Given the description of an element on the screen output the (x, y) to click on. 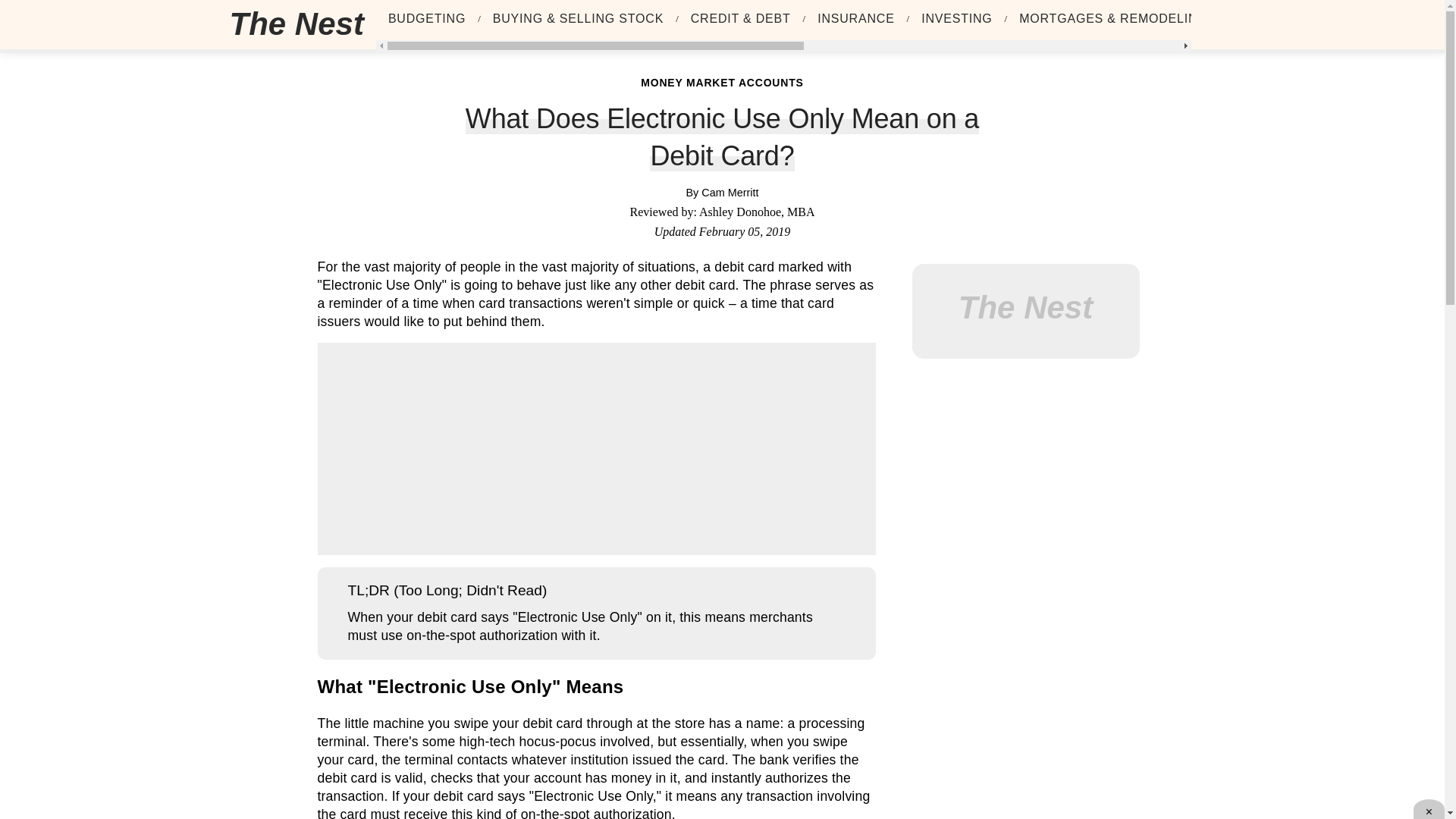
INVESTING (956, 19)
PURCHASING A CAR (1299, 19)
MONEY MARKET ACCOUNTS (721, 82)
INSURANCE (854, 19)
The Nest (301, 23)
The Nest (295, 23)
BUDGETING (426, 19)
